Given the description of an element on the screen output the (x, y) to click on. 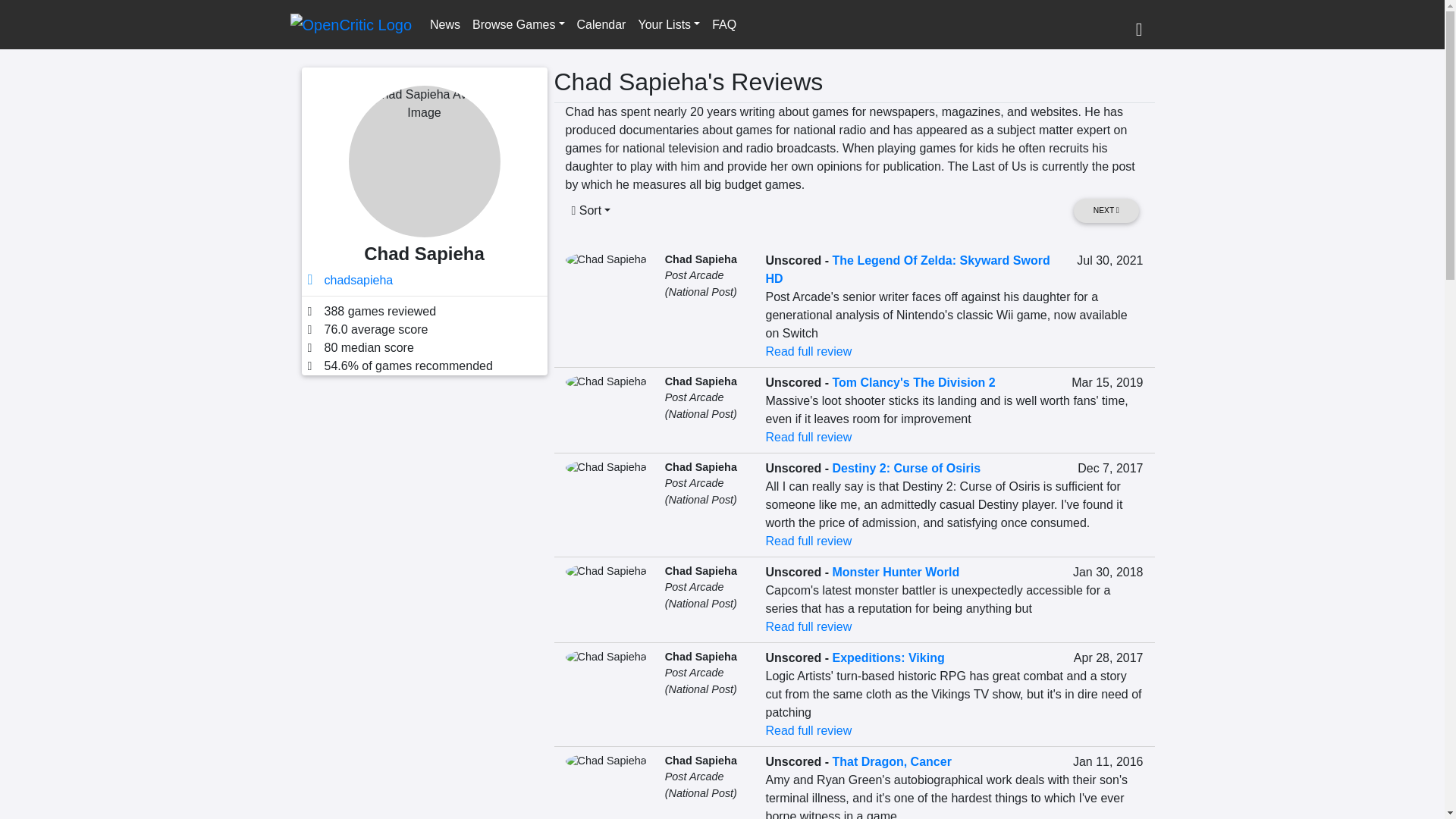
Browse Games (517, 24)
Read full review (808, 436)
News (444, 24)
Your Lists (668, 24)
Chad Sapieha (700, 467)
Read full review (808, 350)
NEXT (1106, 210)
Chad Sapieha (700, 381)
FAQ (724, 24)
Tom Clancy's The Division 2 (913, 382)
